Given the description of an element on the screen output the (x, y) to click on. 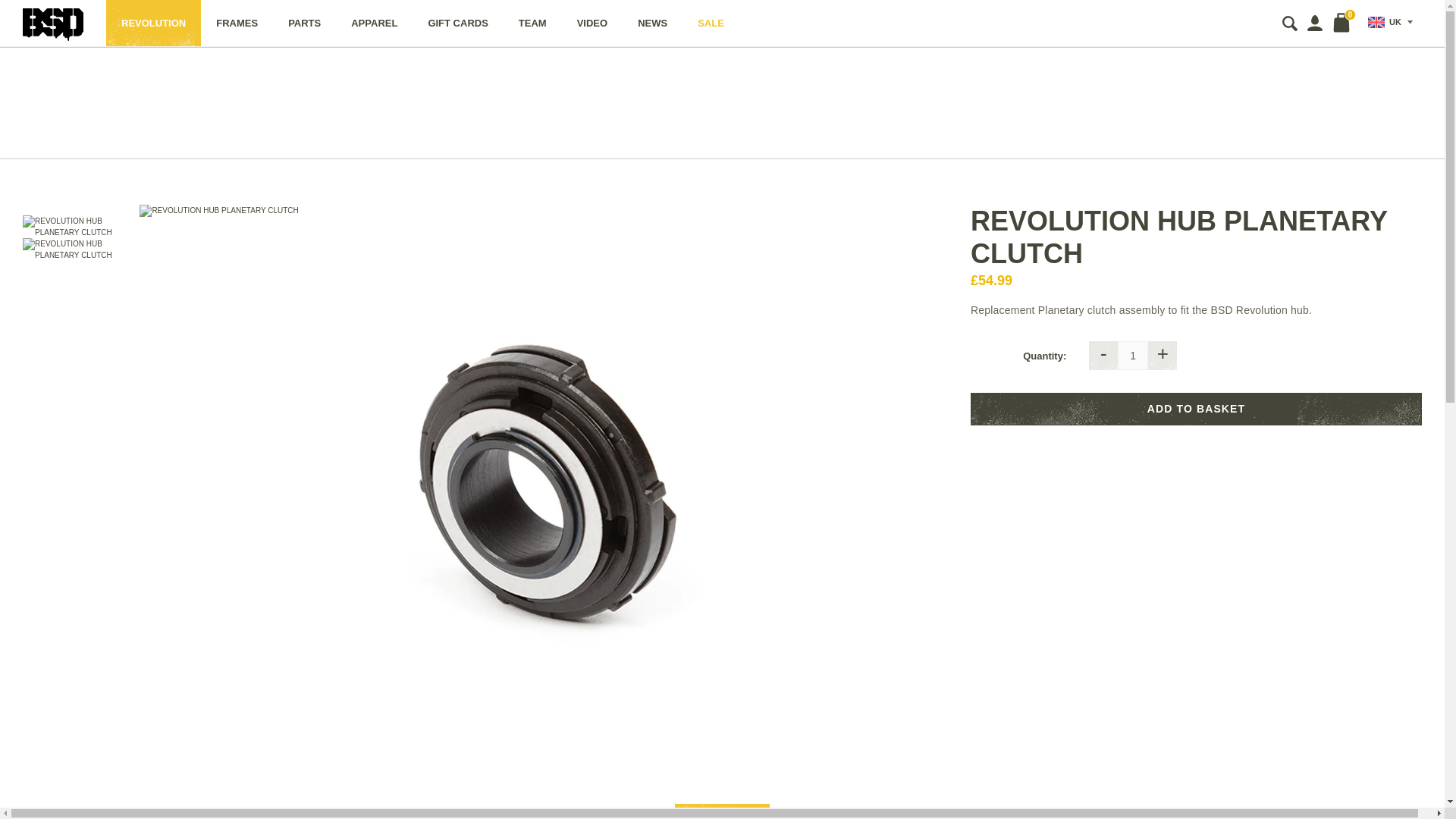
1 (1133, 355)
